Given the description of an element on the screen output the (x, y) to click on. 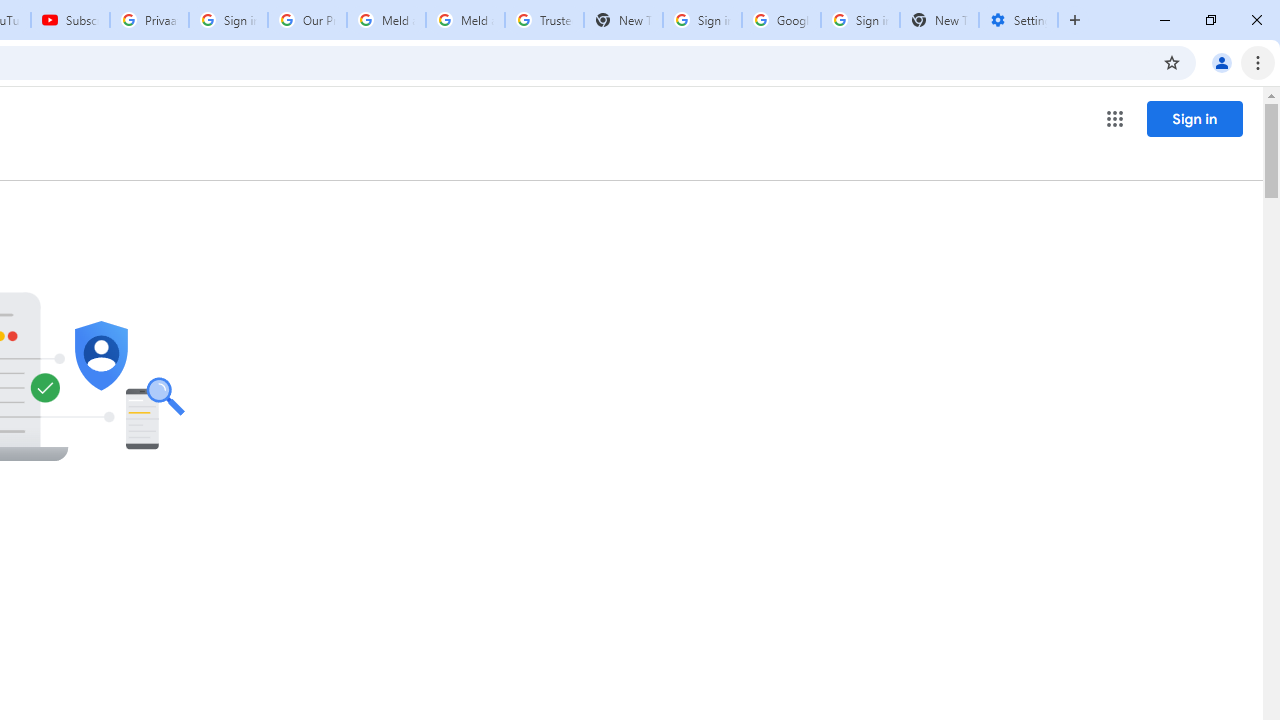
Sign in - Google Accounts (228, 20)
Sign in - Google Accounts (702, 20)
New Tab (939, 20)
Settings - Addresses and more (1018, 20)
Sign in - Google Accounts (859, 20)
